Given the description of an element on the screen output the (x, y) to click on. 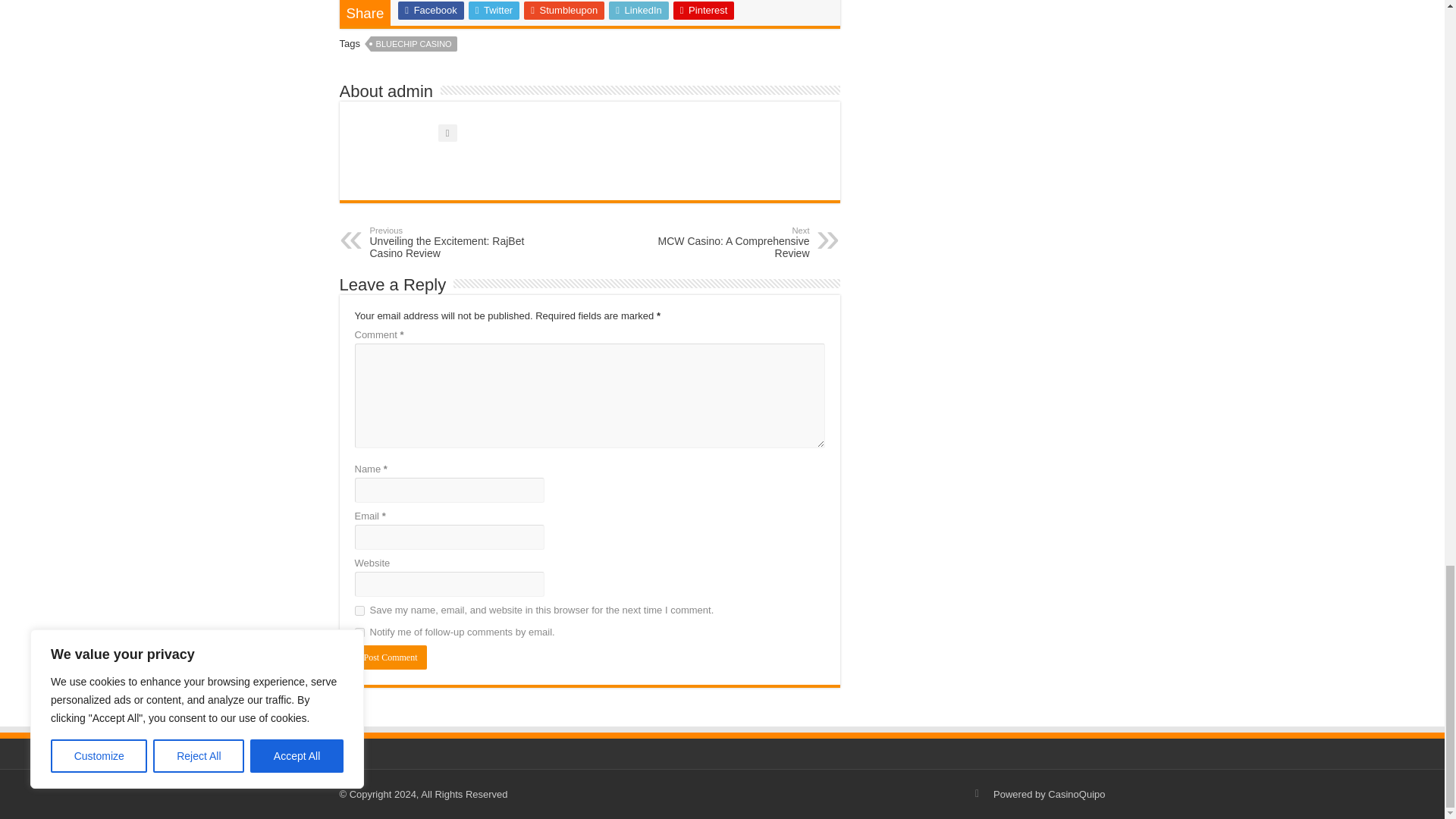
subscribe (360, 633)
yes (360, 610)
Post Comment (390, 657)
